Given the description of an element on the screen output the (x, y) to click on. 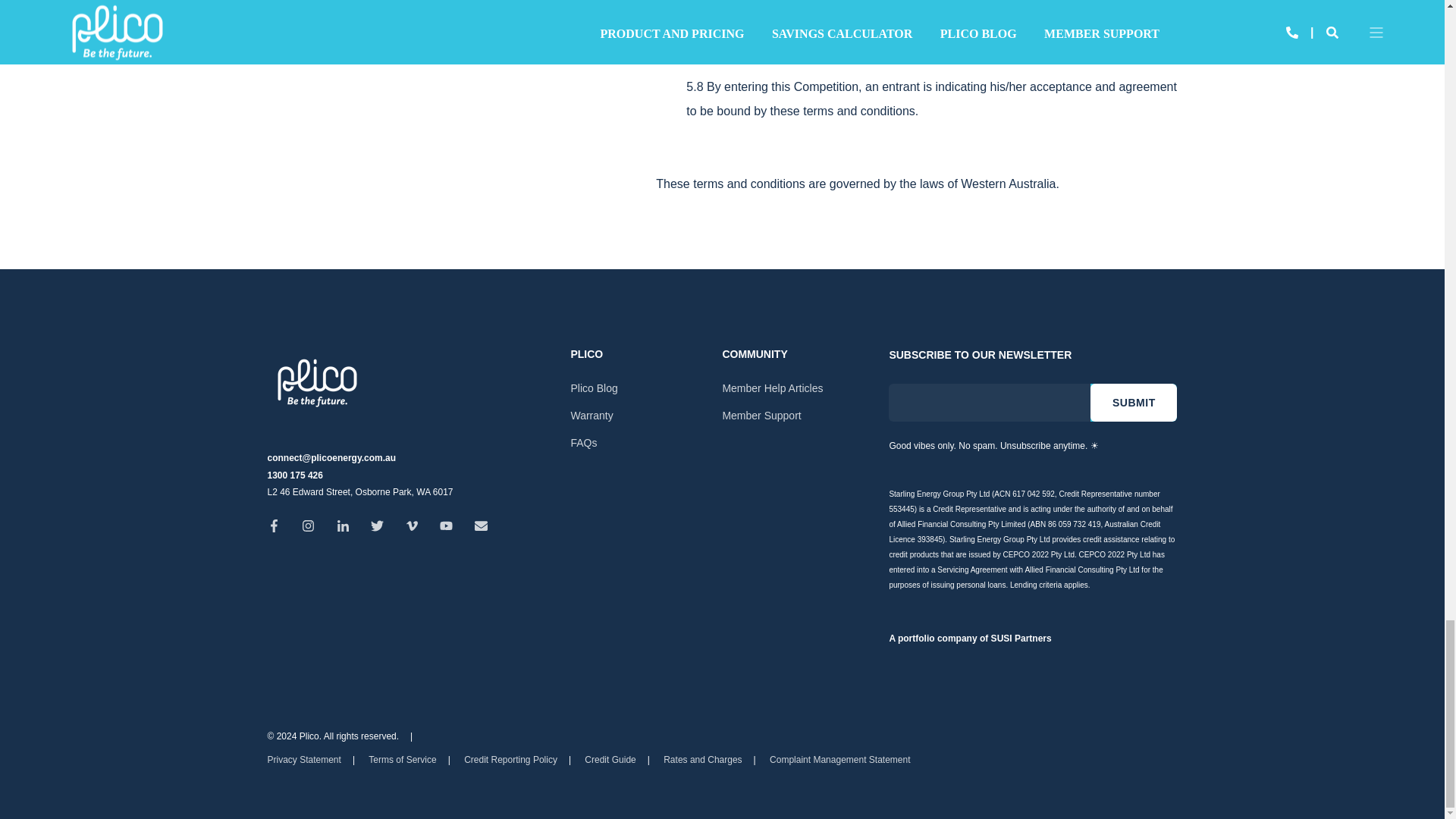
Submit (1133, 402)
